Given the description of an element on the screen output the (x, y) to click on. 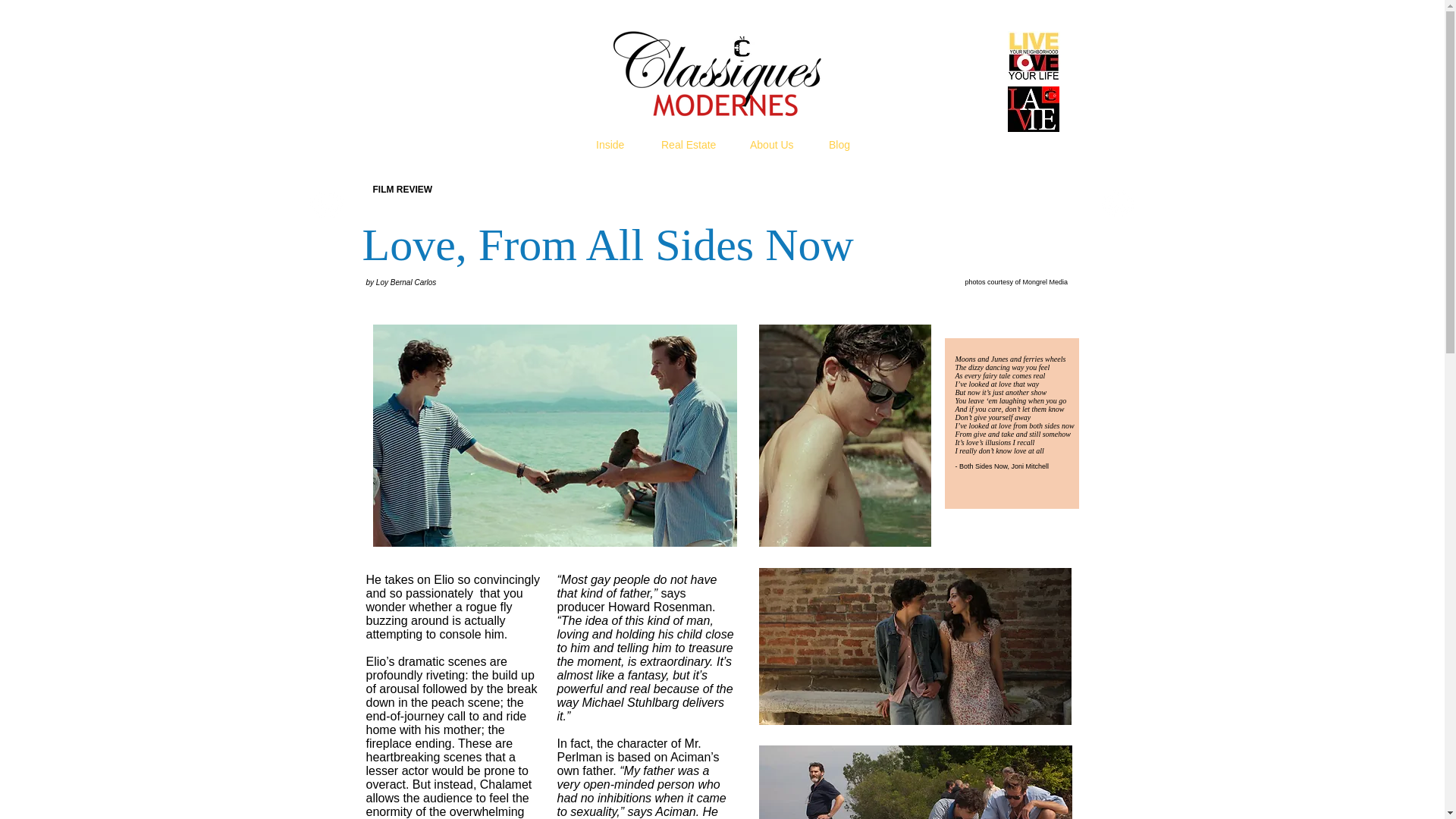
Blog (838, 144)
Blog (968, 141)
8a487328-d16d-40c9-8e48-def02da84014.jpg (553, 435)
137522bb-ae68-4f0f-ac62-2f6e410a9c0a.jpg (915, 646)
